Given the description of an element on the screen output the (x, y) to click on. 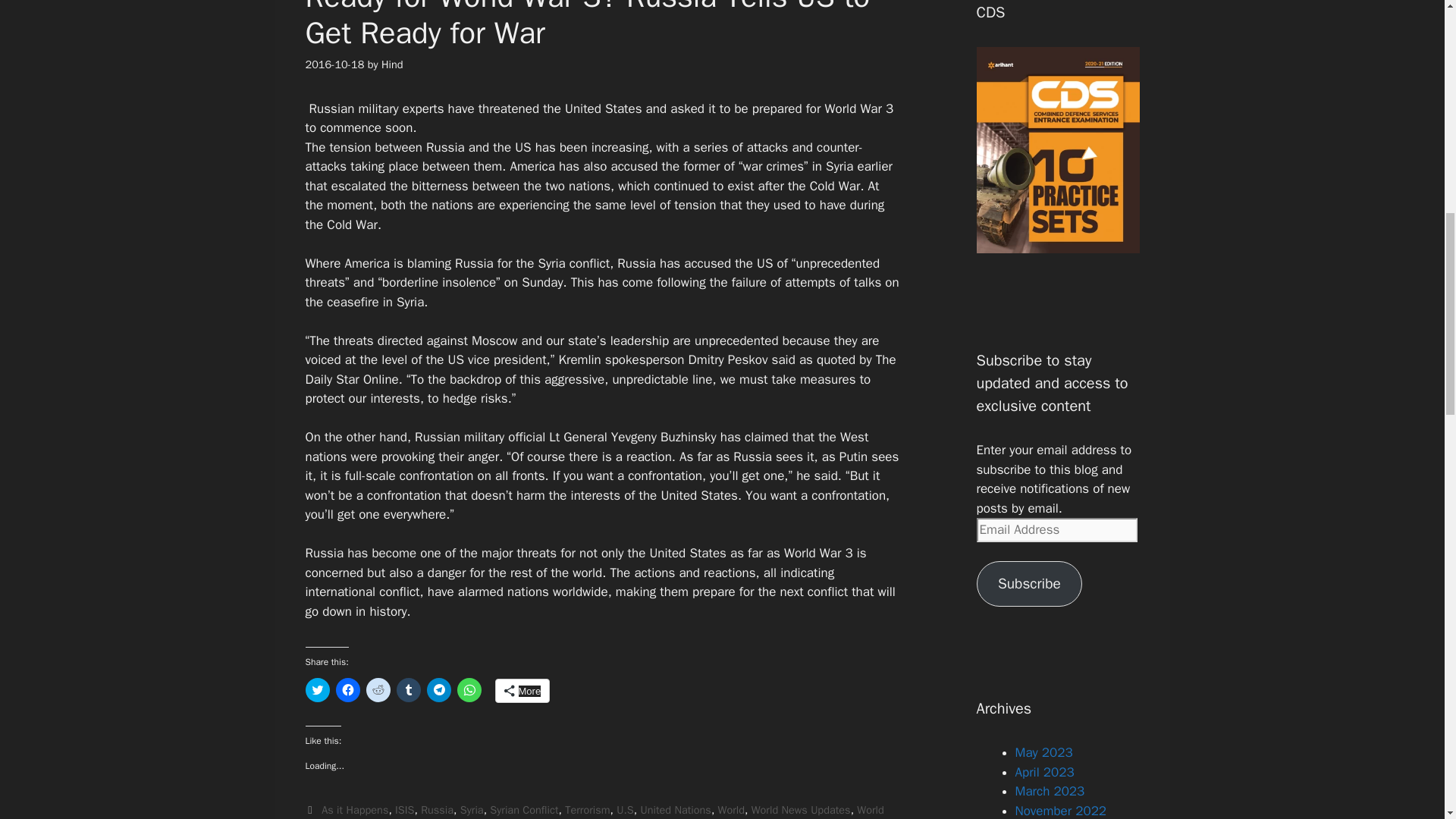
Click to share on WhatsApp (468, 689)
United Nations (675, 809)
Click to share on Twitter (316, 689)
ISIS (403, 809)
More (522, 690)
Syria (471, 809)
Syrian Conflict (523, 809)
Terrorism (587, 809)
World War 3 (593, 811)
World News Updates (800, 809)
World (730, 809)
As it Happens (354, 809)
U.S (624, 809)
Click to share on Facebook (346, 689)
Click to share on Telegram (437, 689)
